Given the description of an element on the screen output the (x, y) to click on. 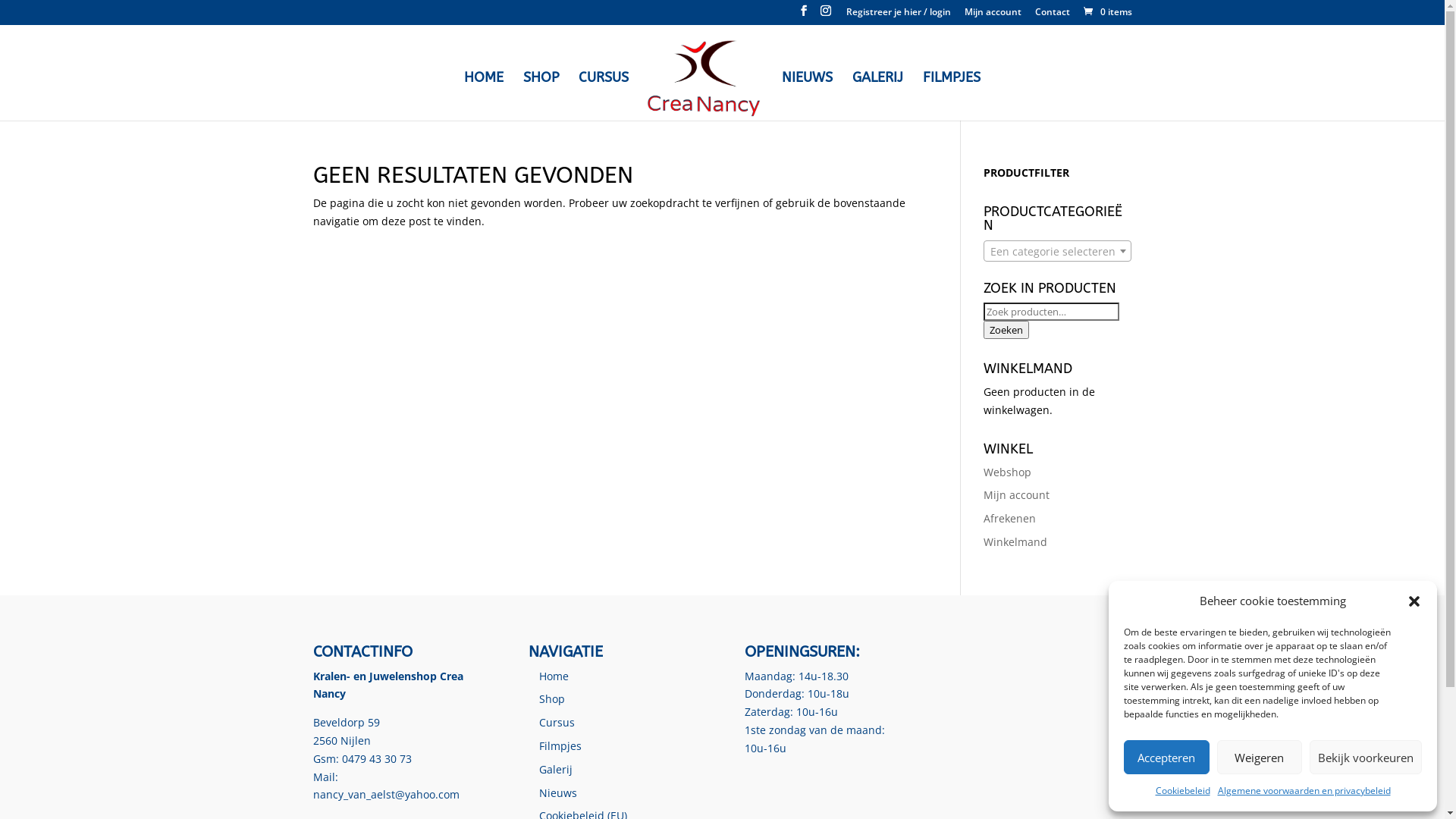
Accepteren Element type: text (1166, 757)
Mijn account Element type: text (1016, 494)
Bekijk voorkeuren Element type: text (1365, 757)
Zoeken Element type: text (1006, 329)
Contact Element type: text (1051, 15)
Winkelmand Element type: text (1015, 541)
FILMPJES Element type: text (951, 96)
Shop Element type: text (551, 698)
SHOP Element type: text (540, 96)
Afrekenen Element type: text (1009, 518)
Mijn account Element type: text (992, 15)
HOME Element type: text (483, 96)
Weigeren Element type: text (1259, 757)
Cookiebeleid Element type: text (1182, 790)
GALERIJ Element type: text (877, 96)
Algemene voorwaarden en privacybeleid Element type: text (1303, 790)
Filmpjes Element type: text (560, 745)
Cursus Element type: text (556, 722)
NIEUWS Element type: text (806, 96)
0 items Element type: text (1106, 11)
CURSUS Element type: text (603, 96)
Webshop Element type: text (1007, 471)
nancy_van_aelst@yahoo.com Element type: text (385, 794)
Galerij Element type: text (555, 769)
Home Element type: text (553, 675)
Registreer je hier / login Element type: text (898, 15)
Nieuws Element type: text (558, 792)
